Given the description of an element on the screen output the (x, y) to click on. 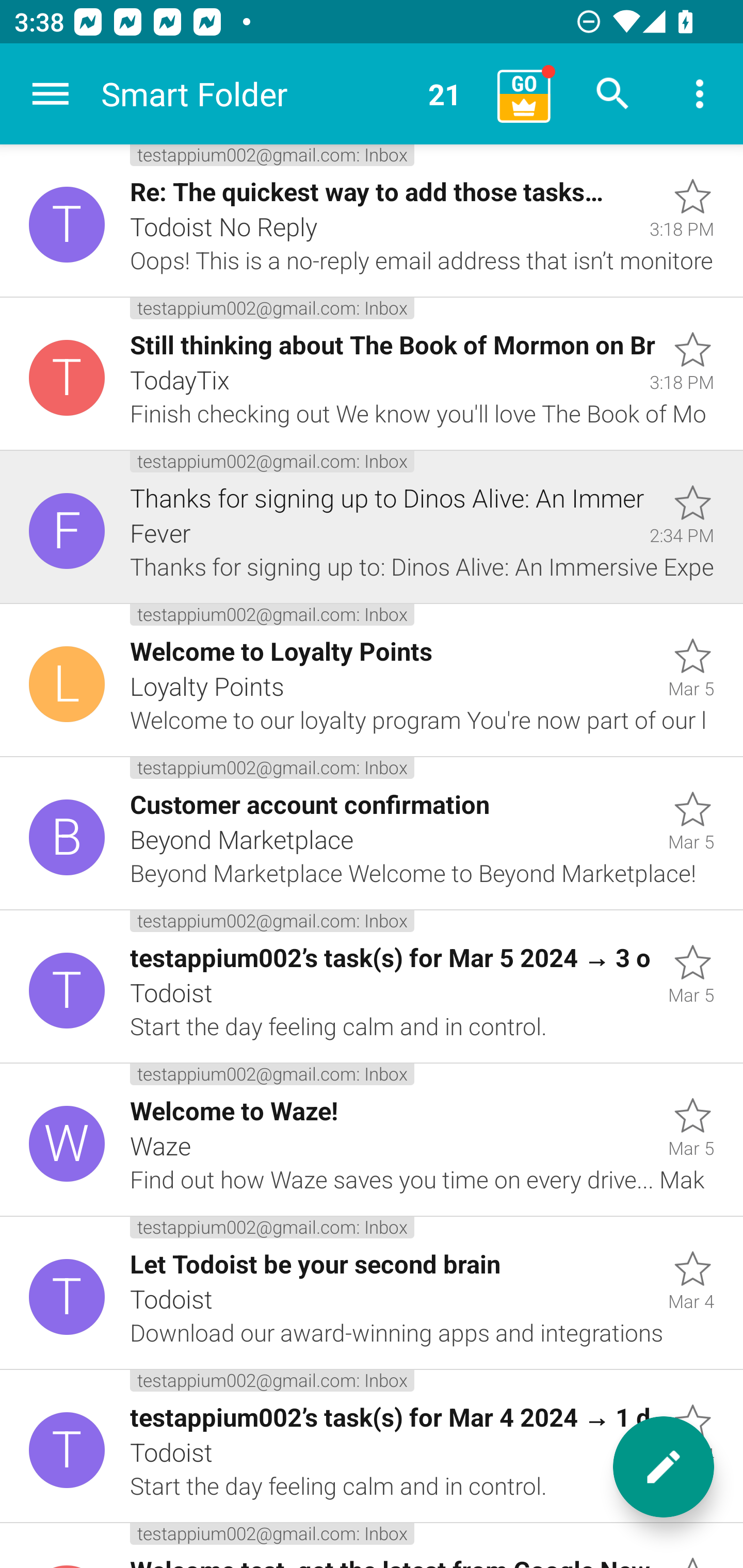
Navigate up (50, 93)
Smart Folder 21 (291, 93)
Search (612, 93)
More options (699, 93)
New message (663, 1466)
